Given the description of an element on the screen output the (x, y) to click on. 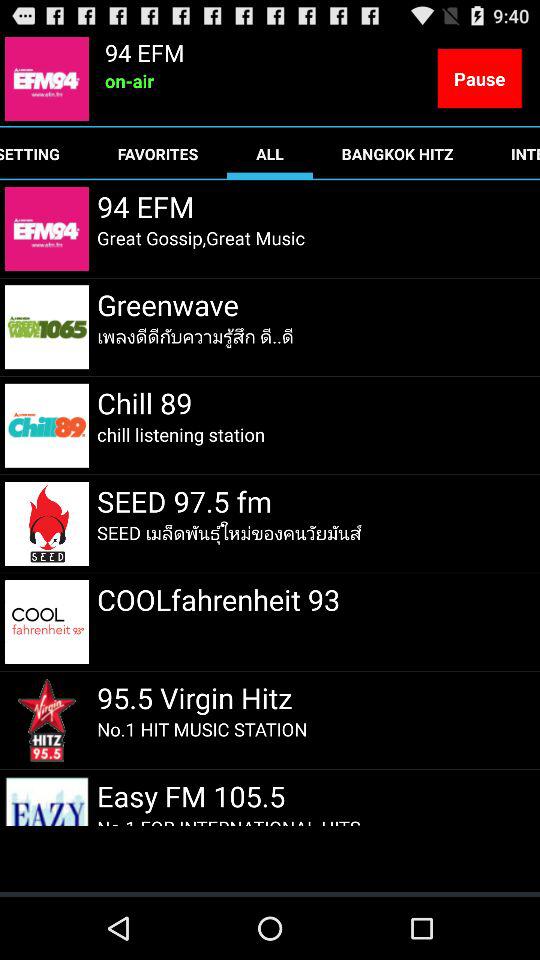
select icon to the right of 94 efm icon (479, 78)
